Given the description of an element on the screen output the (x, y) to click on. 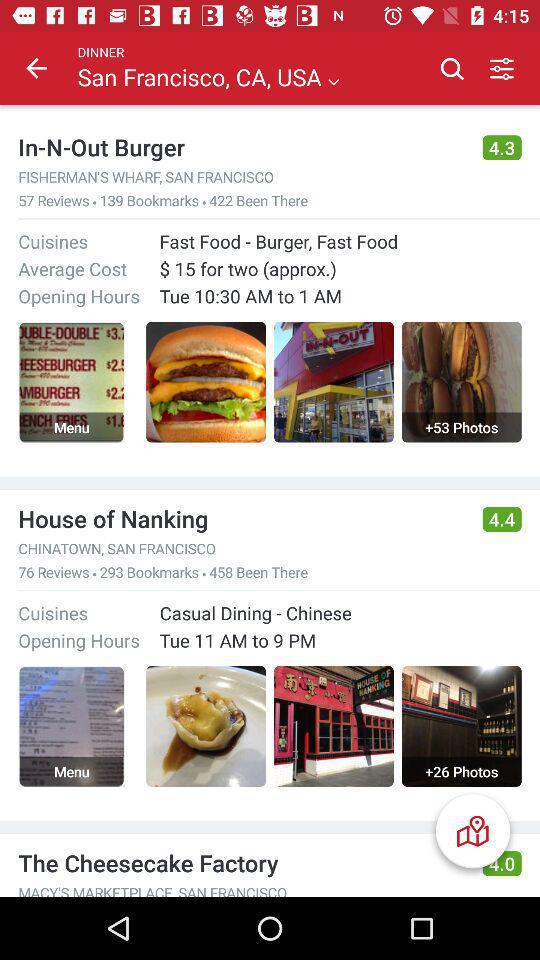
swipe to the chinatown, san francisco (241, 548)
